Given the description of an element on the screen output the (x, y) to click on. 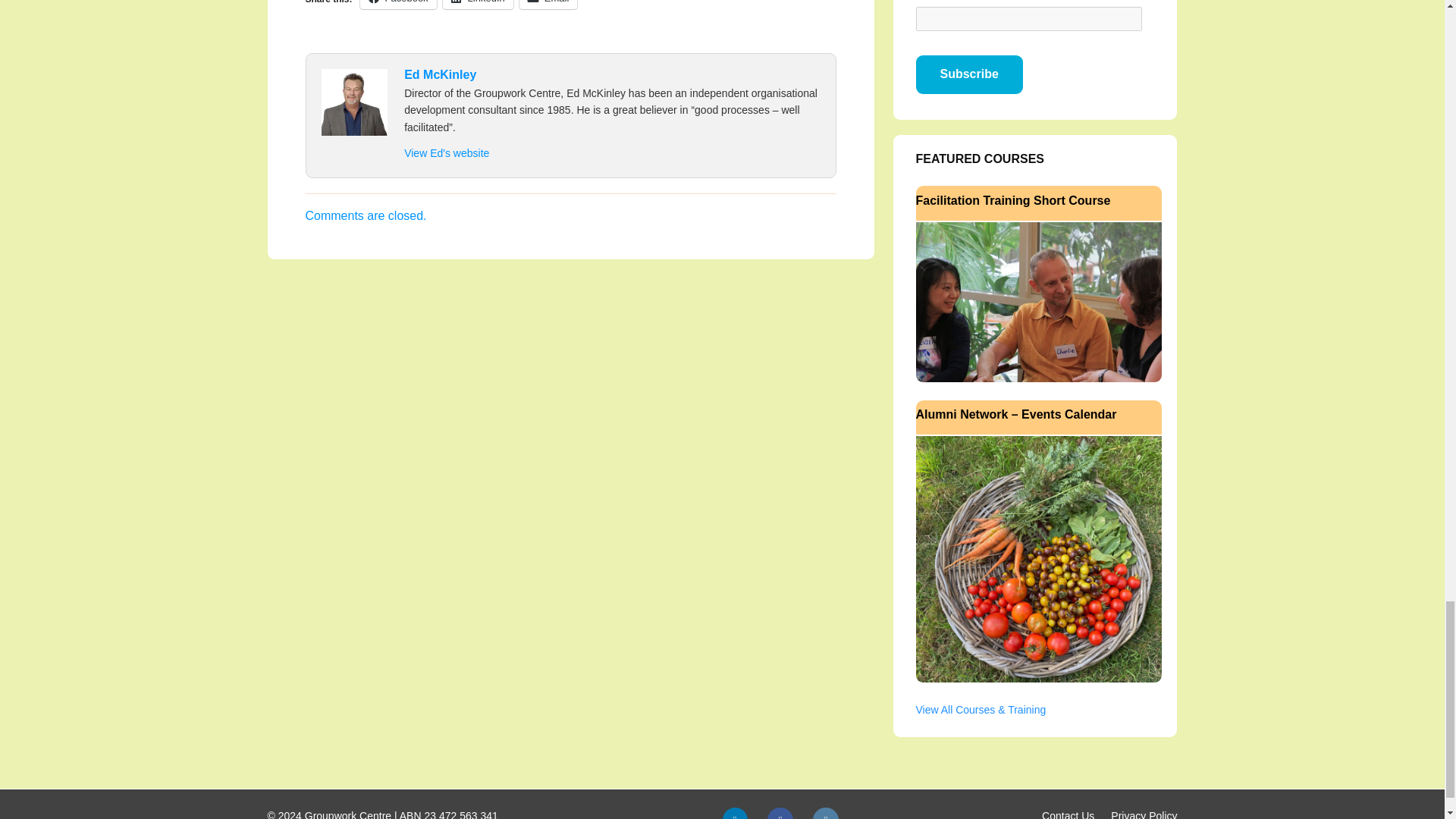
Instagram (825, 813)
Facebook (779, 813)
Subscribe (969, 74)
Posts by Ed McKinley (440, 74)
Click to share on Facebook (397, 4)
Click to share on LinkedIn (477, 4)
Click to email a link to a friend (548, 4)
Facebook (397, 4)
Facilitation Training Short Course (1038, 300)
LinkedIn (734, 813)
